Given the description of an element on the screen output the (x, y) to click on. 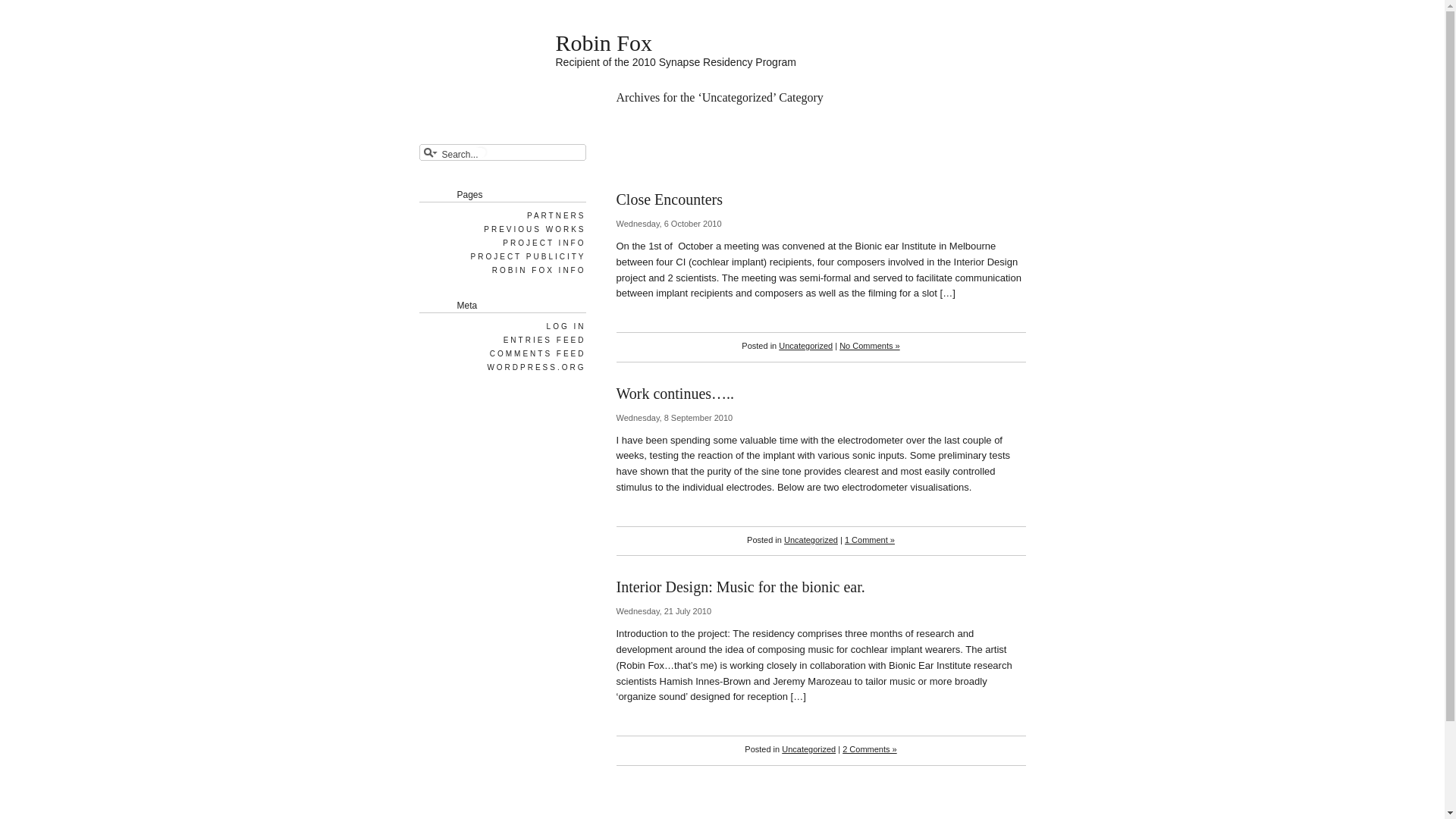
Close Encounters Element type: text (669, 199)
Interior Design: Music for the bionic ear. Element type: text (740, 587)
COMMENTS FEED Element type: text (536, 353)
PROJECT PUBLICITY Element type: text (527, 256)
Uncategorized Element type: text (810, 539)
LOG IN Element type: text (565, 326)
WORDPRESS.ORG Element type: text (534, 366)
PARTNERS Element type: text (555, 215)
Uncategorized Element type: text (808, 748)
Robin Fox Element type: text (603, 42)
ROBIN FOX INFO Element type: text (537, 269)
PROJECT INFO Element type: text (542, 242)
PREVIOUS WORKS Element type: text (533, 228)
Uncategorized Element type: text (805, 345)
ENTRIES FEED Element type: text (543, 339)
